Given the description of an element on the screen output the (x, y) to click on. 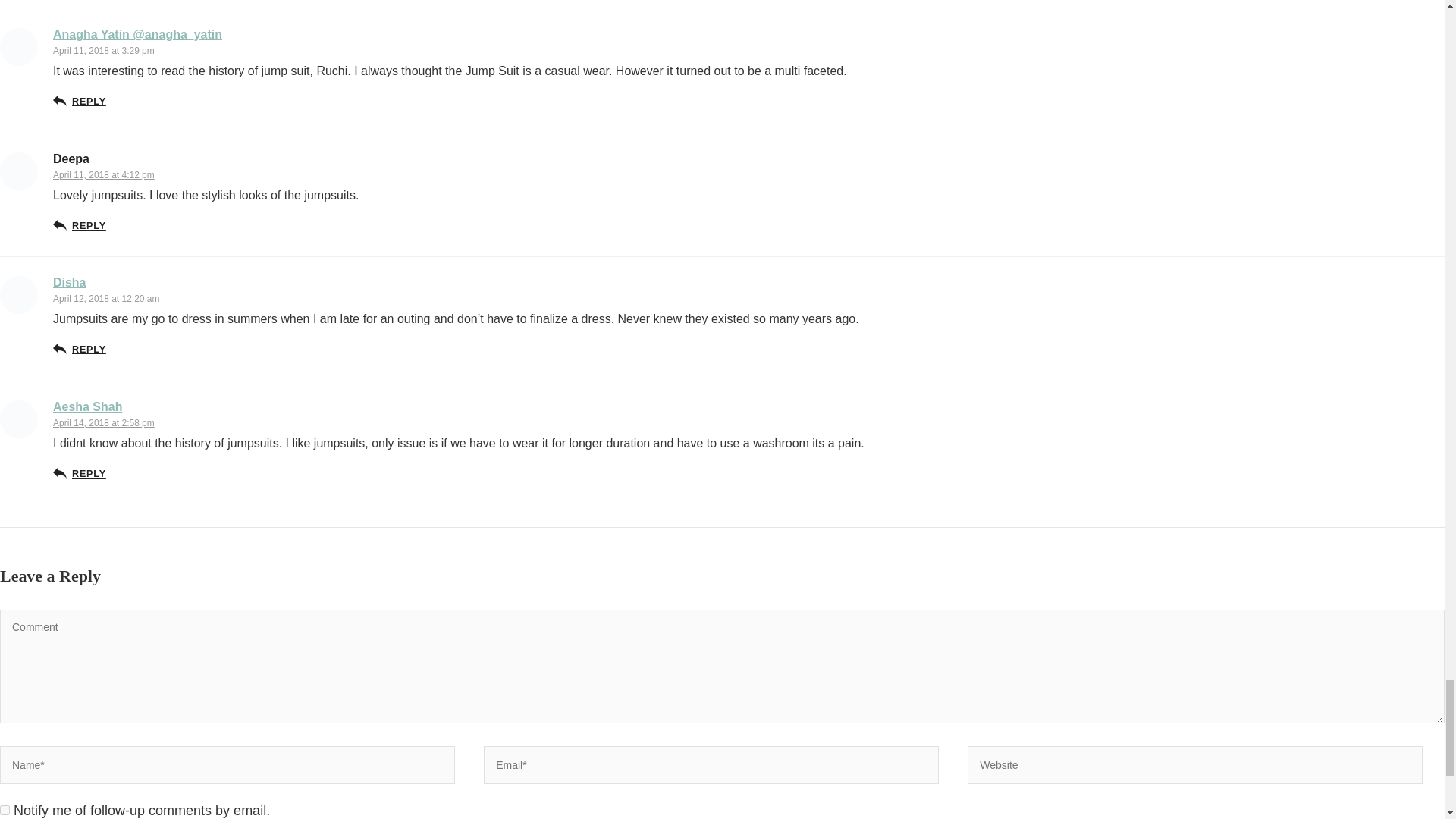
subscribe (5, 809)
